Given the description of an element on the screen output the (x, y) to click on. 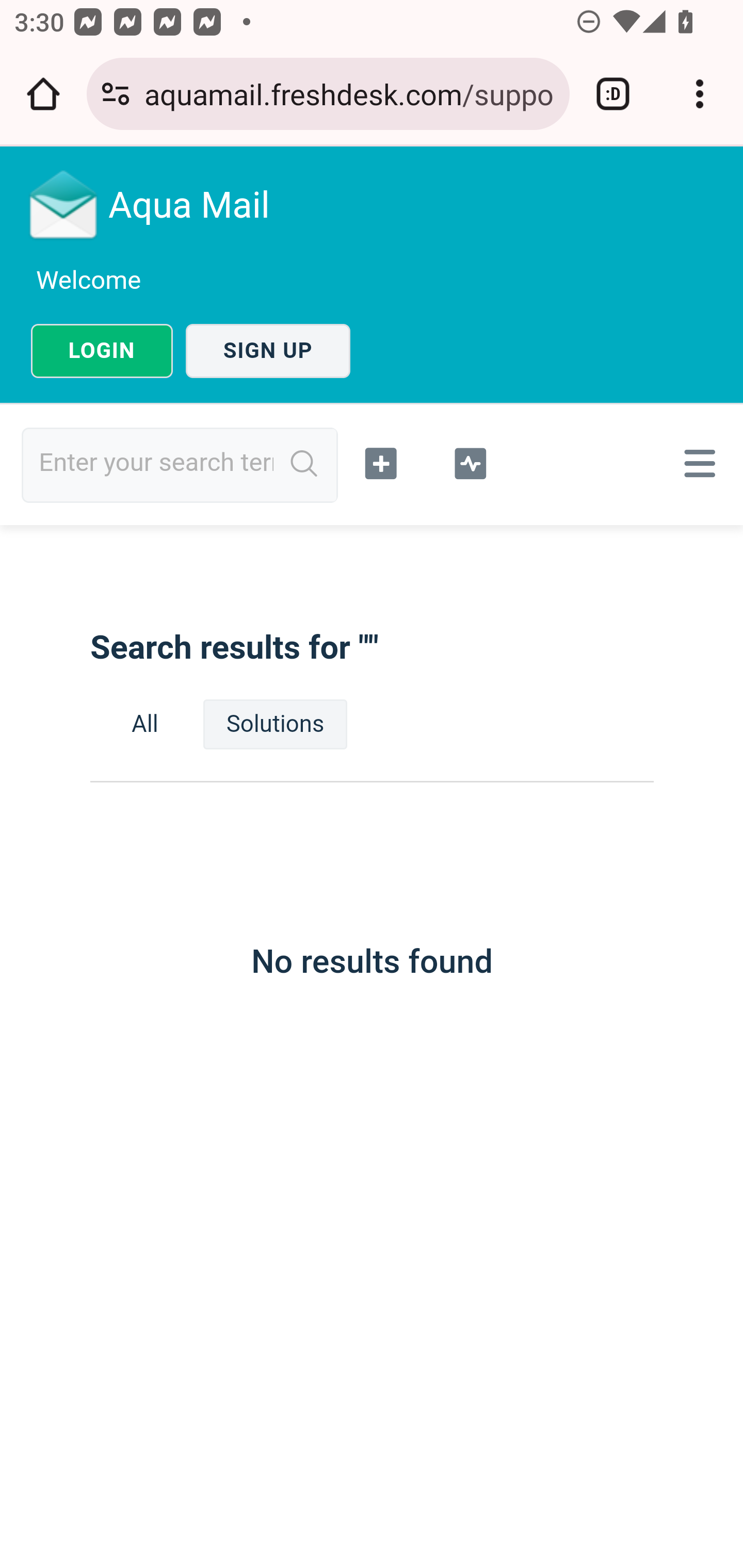
Open the home page (43, 93)
Connection is secure (115, 93)
Switch or close tabs (612, 93)
Customize and control Google Chrome (699, 93)
Logo (63, 204)
LOGIN (101, 351)
SIGN UP (268, 351)
 (695, 463)
Search (304, 464)
 (381, 460)
 (470, 460)
All (145, 724)
Solutions (275, 724)
